Given the description of an element on the screen output the (x, y) to click on. 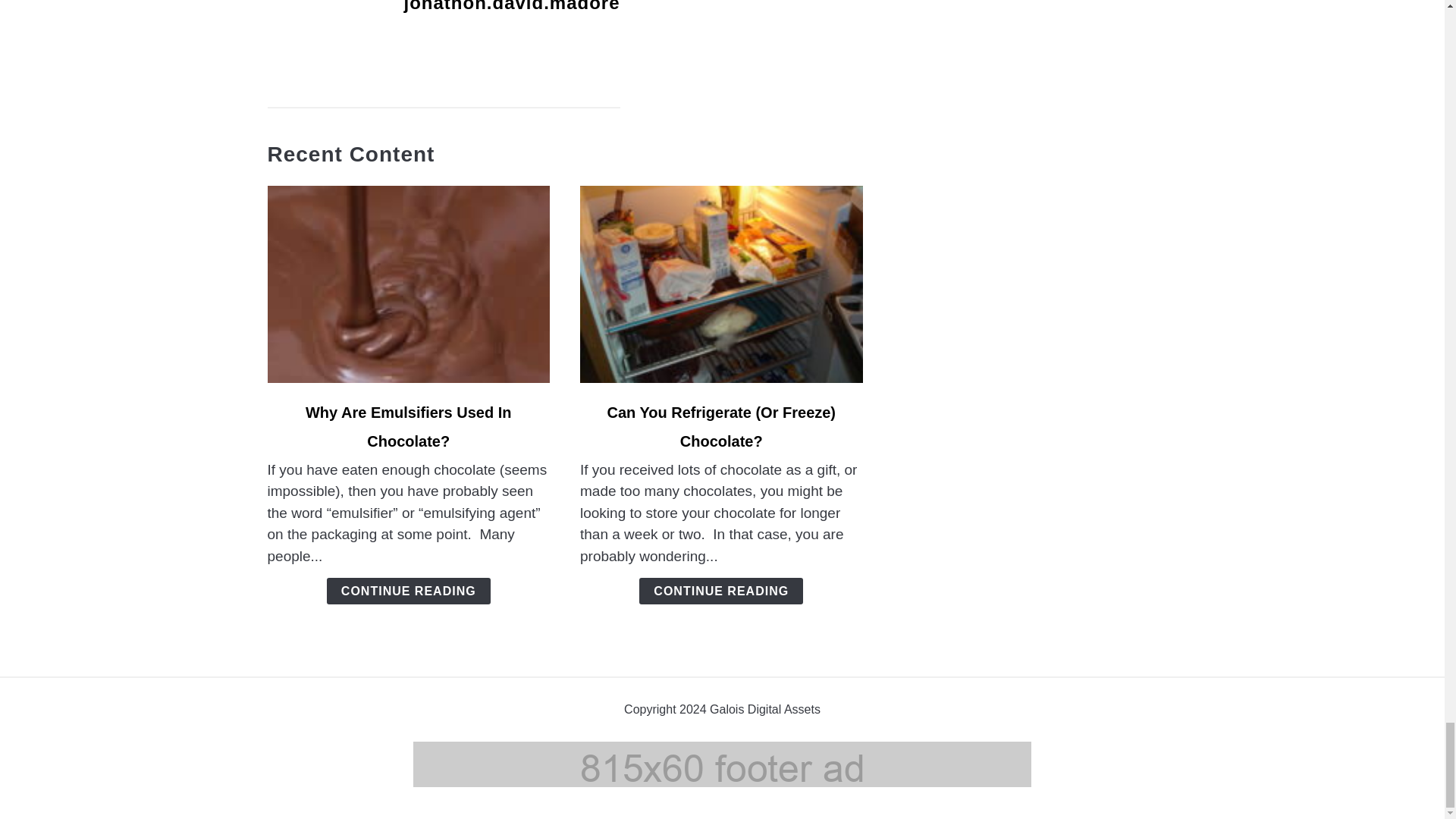
Why Are Emulsifiers Used In Chocolate? (408, 426)
link to Why Are Emulsifiers Used In Chocolate? (408, 284)
CONTINUE READING (721, 591)
CONTINUE READING (408, 591)
jonathon.david.madore (511, 6)
